Given the description of an element on the screen output the (x, y) to click on. 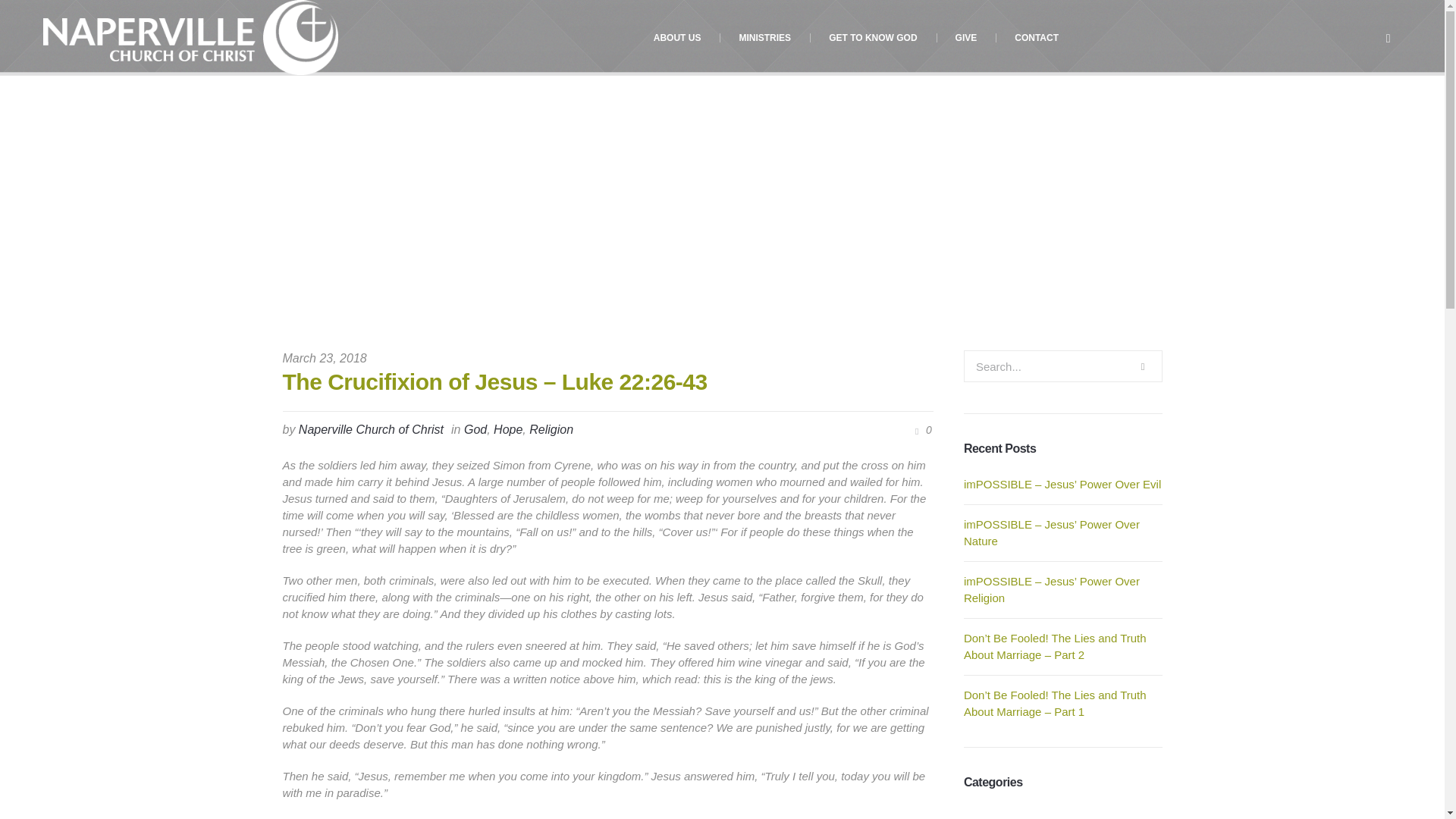
Hope (507, 429)
God (475, 429)
Home (590, 273)
0 (921, 430)
Religion (551, 429)
Naperville Church of Christ (371, 429)
ABOUT US (677, 37)
GET TO KNOW GOD (872, 37)
God (627, 273)
MINISTRIES (764, 37)
CONTACT (1036, 37)
Posts by Naperville Church of Christ (371, 429)
March 23, 2018 (324, 358)
